Given the description of an element on the screen output the (x, y) to click on. 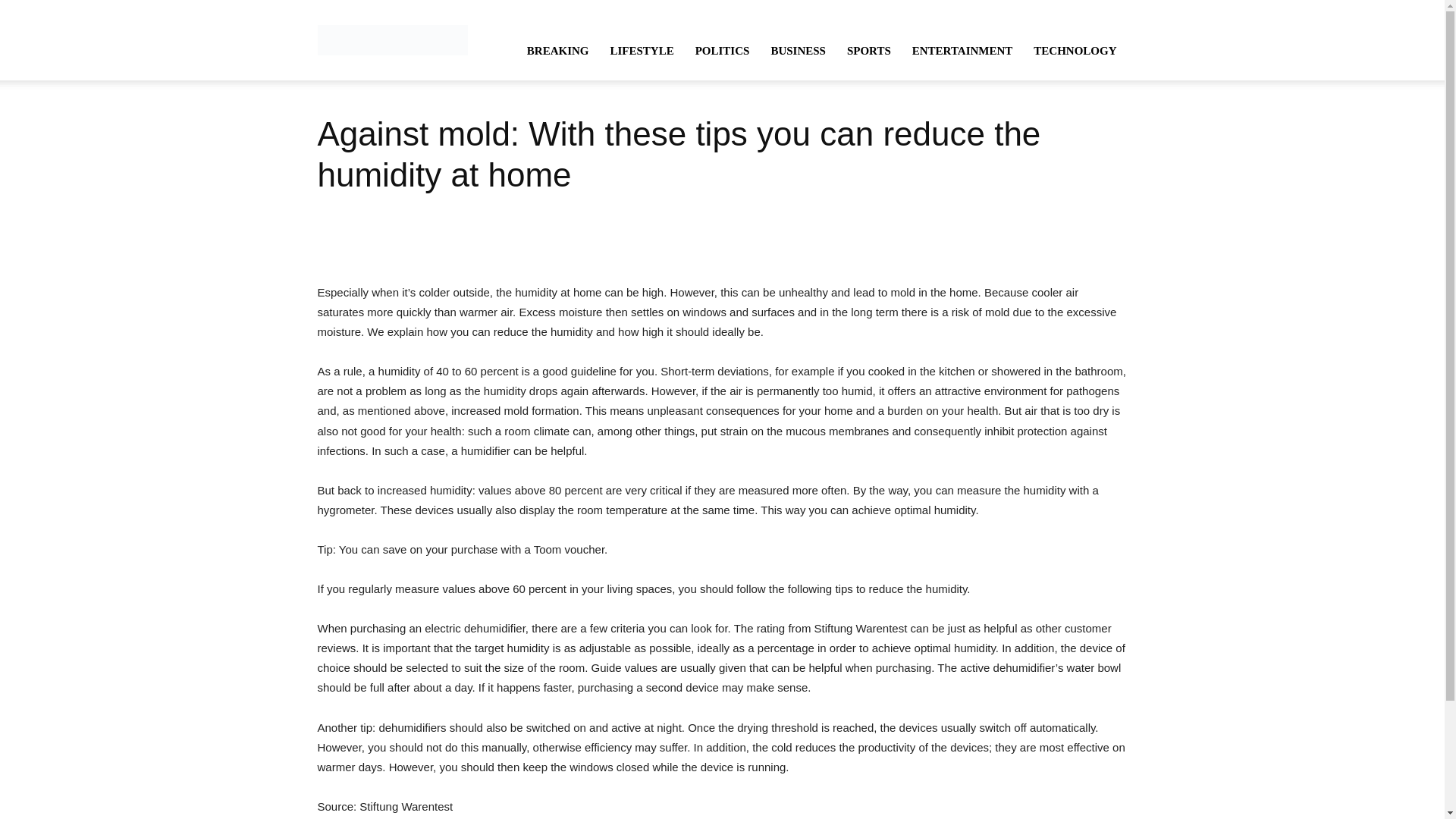
ENTERTAINMENT (962, 50)
POLITICS (722, 50)
TECHNOLOGY (1074, 50)
BUSINESS (797, 50)
BREAKING (557, 50)
SPORTS (868, 50)
Indo Newyork (392, 39)
LIFESTYLE (641, 50)
